Given the description of an element on the screen output the (x, y) to click on. 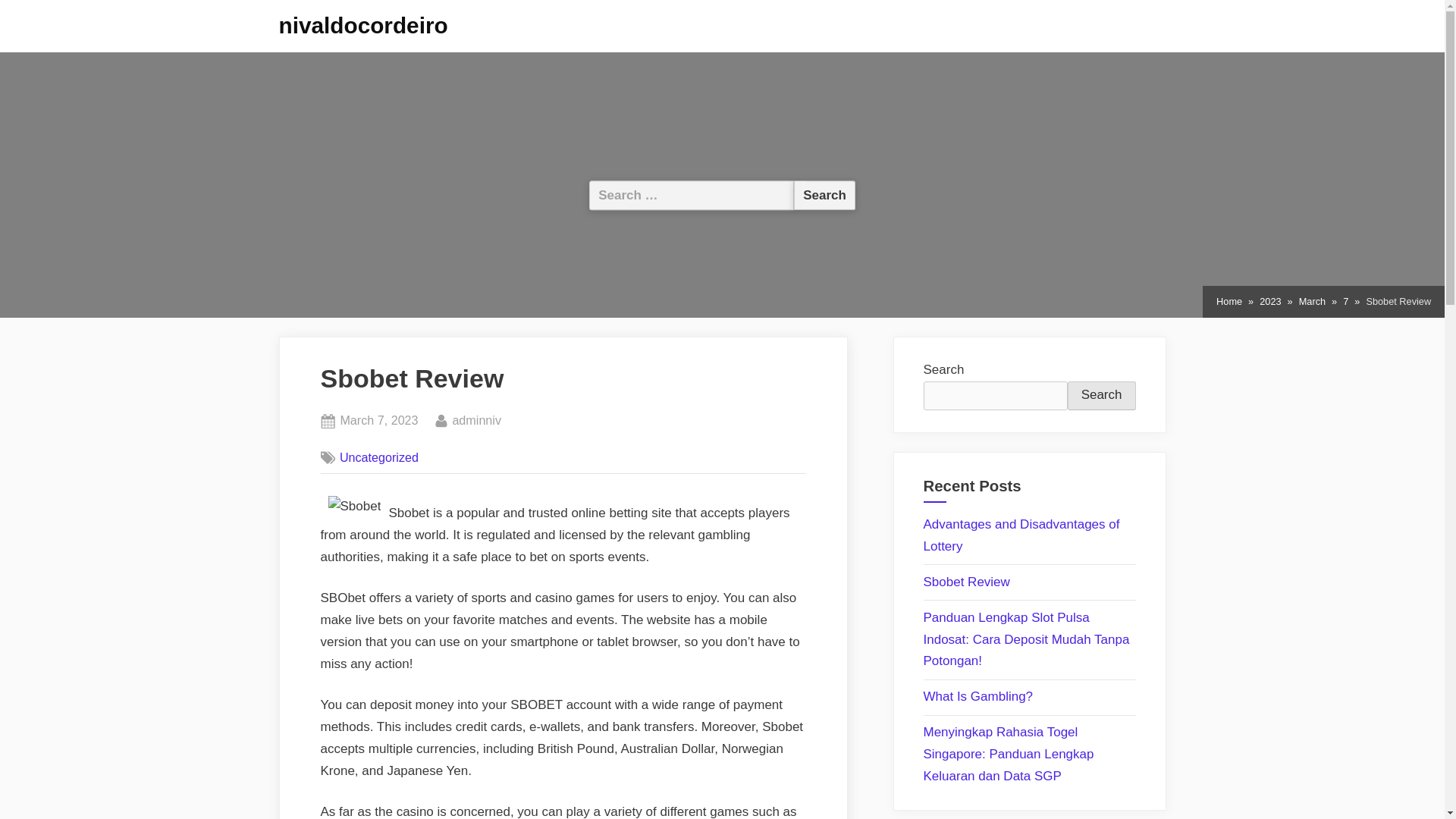
Search (1101, 395)
Search (824, 194)
nivaldocordeiro (363, 25)
Search (824, 194)
Search (824, 194)
What Is Gambling? (978, 696)
Home (1228, 301)
2023 (378, 420)
Uncategorized (1270, 301)
March (379, 457)
Advantages and Disadvantages of Lottery (1311, 301)
